Given the description of an element on the screen output the (x, y) to click on. 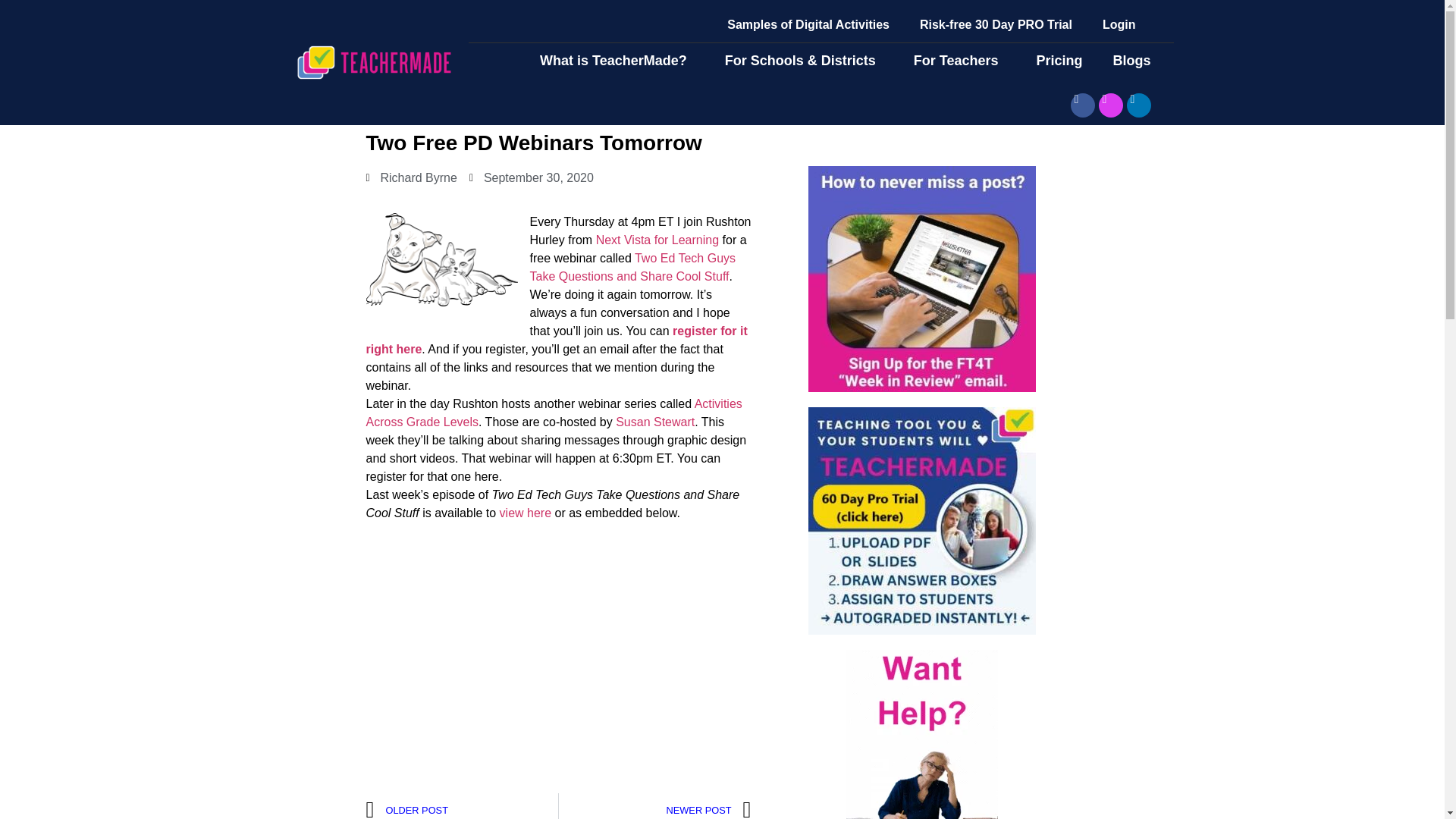
Risk-free 30 Day PRO Trial (995, 24)
Blogs (1135, 60)
Pricing (1058, 60)
Login (1119, 24)
What is TeacherMade? (617, 60)
Samples of Digital Activities (807, 24)
For Teachers (960, 60)
